Given the description of an element on the screen output the (x, y) to click on. 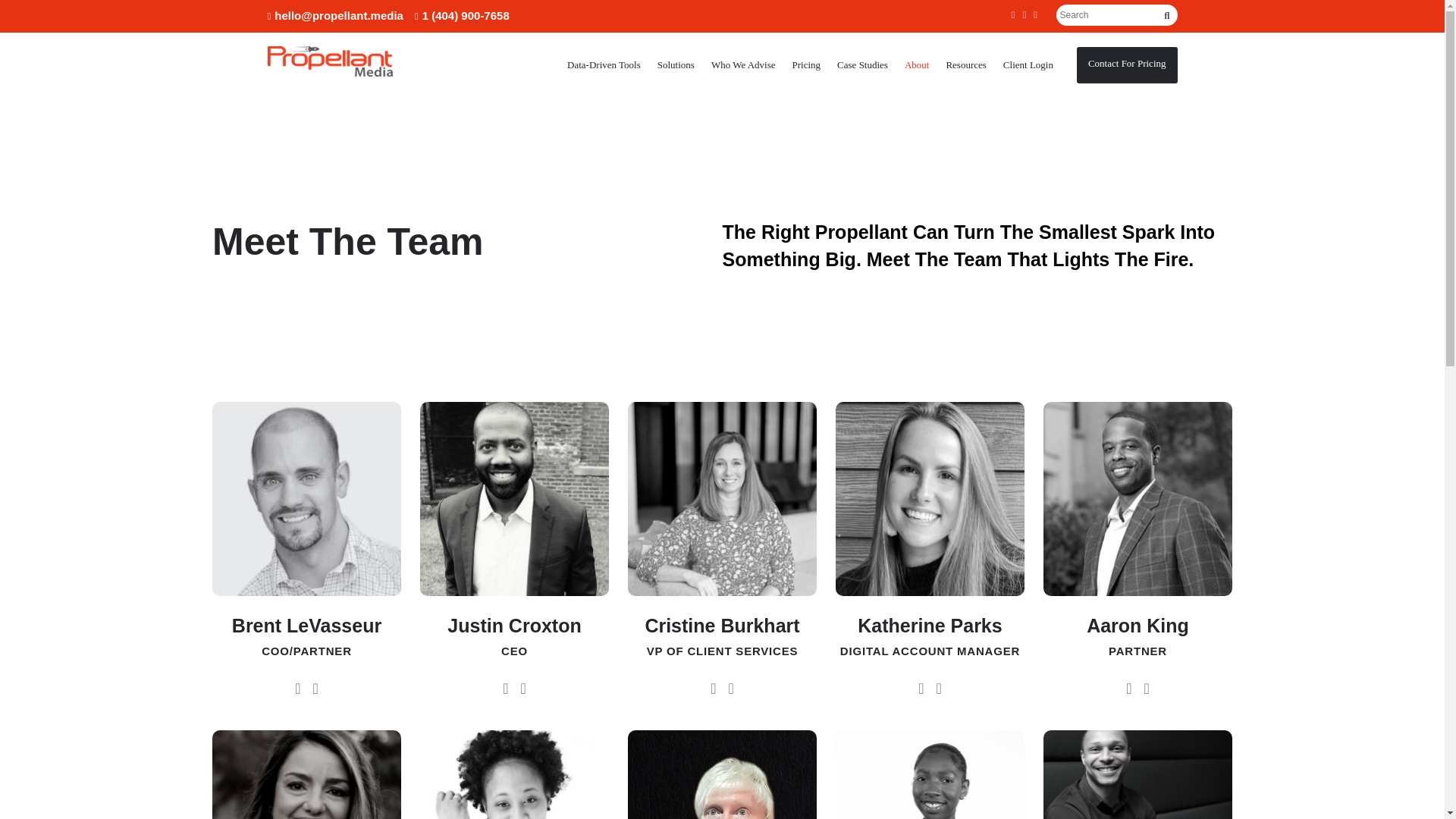
Solutions (676, 64)
Data-Driven Tools (603, 64)
Free Analysis (1126, 63)
